Given the description of an element on the screen output the (x, y) to click on. 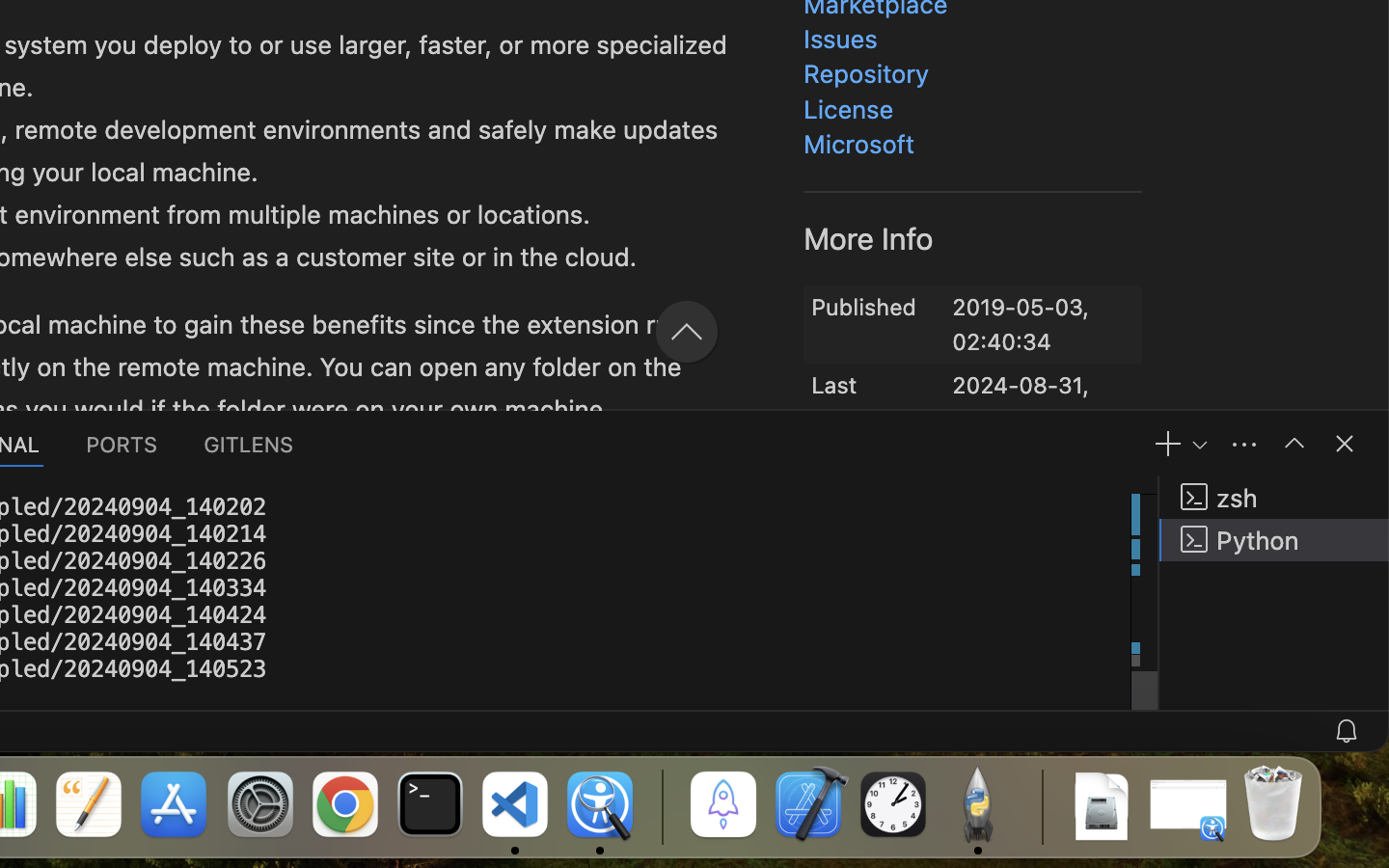
Python  Element type: AXGroup (1274, 539)
0.4285714328289032 Element type: AXDockItem (660, 805)
Last released Element type: AXStaticText (857, 389)
zsh  Element type: AXGroup (1274, 497)
Microsoft Element type: AXStaticText (860, 144)
